Given the description of an element on the screen output the (x, y) to click on. 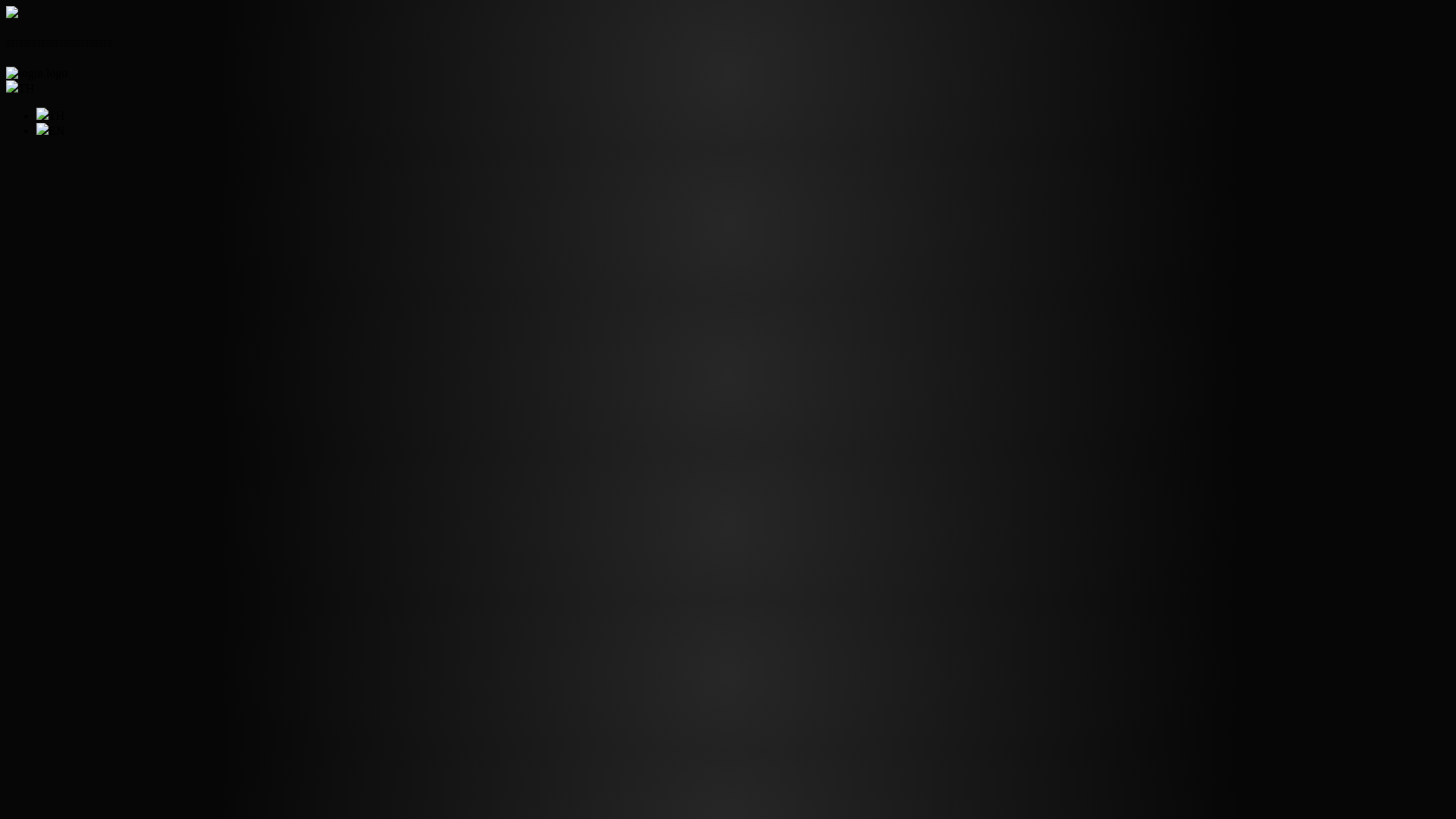
TH Element type: text (20, 87)
